Given the description of an element on the screen output the (x, y) to click on. 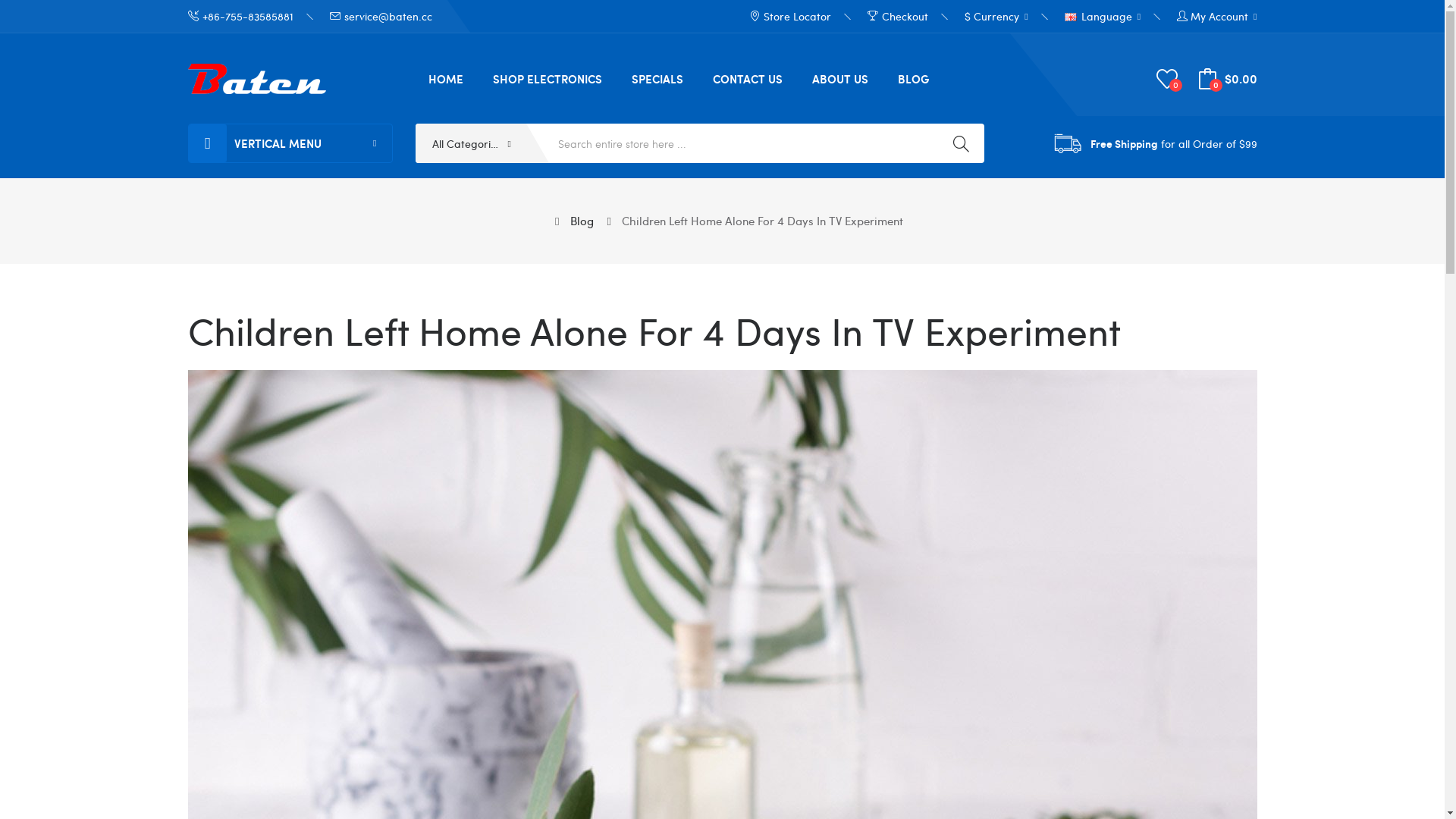
English Element type: hover (1070, 16)
My Account Element type: text (1216, 16)
HOME Element type: text (445, 78)
SHOP ELECTRONICS Element type: text (546, 78)
ABOUT US Element type: text (840, 78)
SPECIALS Element type: text (657, 78)
Store Locator Element type: text (790, 16)
Blog Element type: text (581, 220)
Language  Element type: text (1102, 16)
CONTACT US Element type: text (746, 78)
Checkout Element type: text (897, 16)
$ Currency  Element type: text (995, 16)
0 Element type: text (1165, 78)
0
$0.00 Element type: text (1226, 78)
BLOG Element type: text (912, 78)
